Given the description of an element on the screen output the (x, y) to click on. 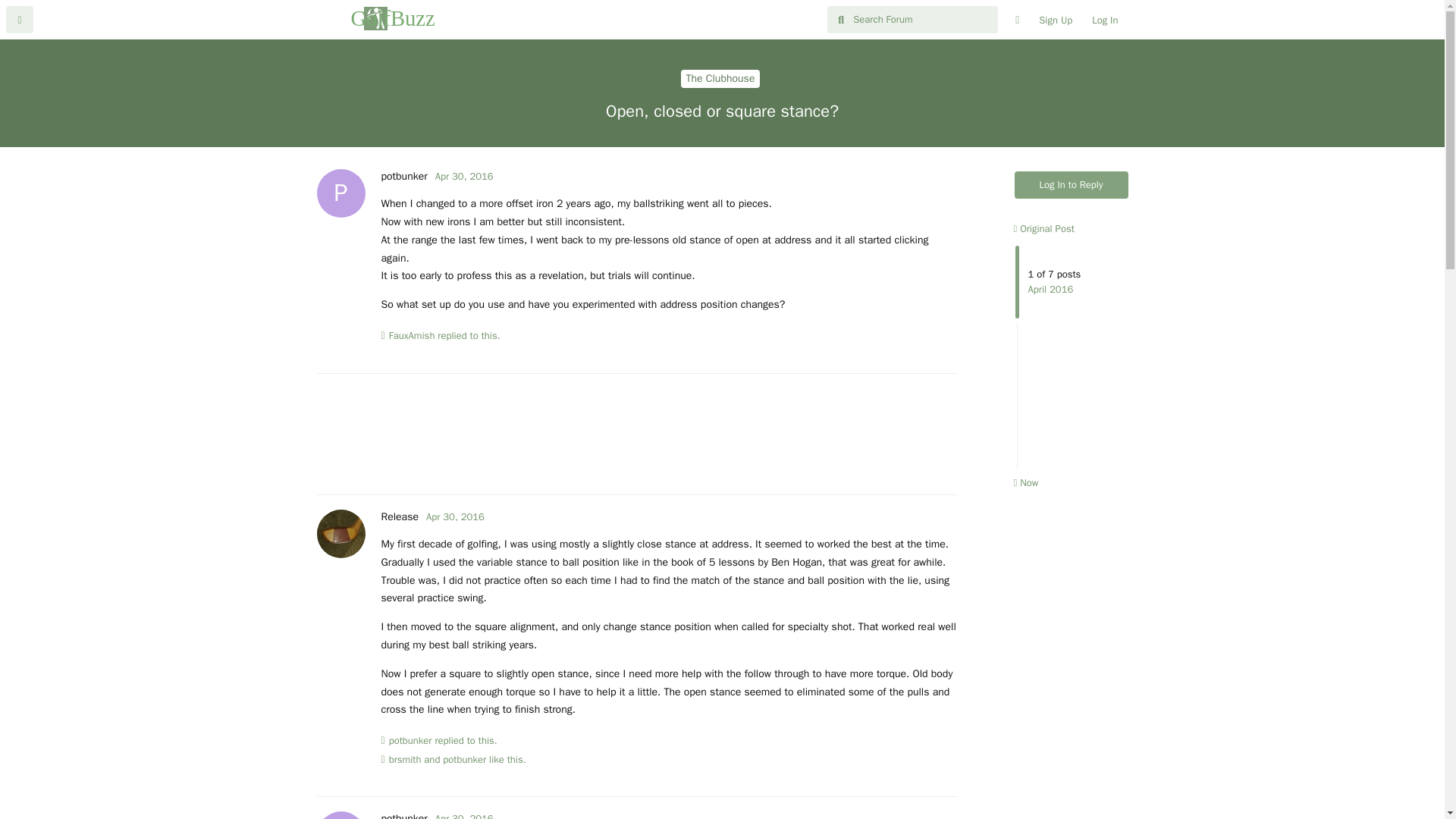
The Clubhouse (720, 78)
Come on in, grab a drink and chat about whatever you like. (720, 78)
Now (1025, 481)
Saturday, April 30, 2016 11:53 PM (464, 815)
Saturday, April 30, 2016 10:14 PM (464, 175)
Sign Up (1055, 19)
Log In to Reply (1071, 185)
Apr 30, 2016 (455, 516)
Release (398, 516)
potbunker (403, 175)
GolfBuzz (410, 740)
Log In (376, 18)
Original Post (1103, 19)
brsmith (1043, 228)
